Given the description of an element on the screen output the (x, y) to click on. 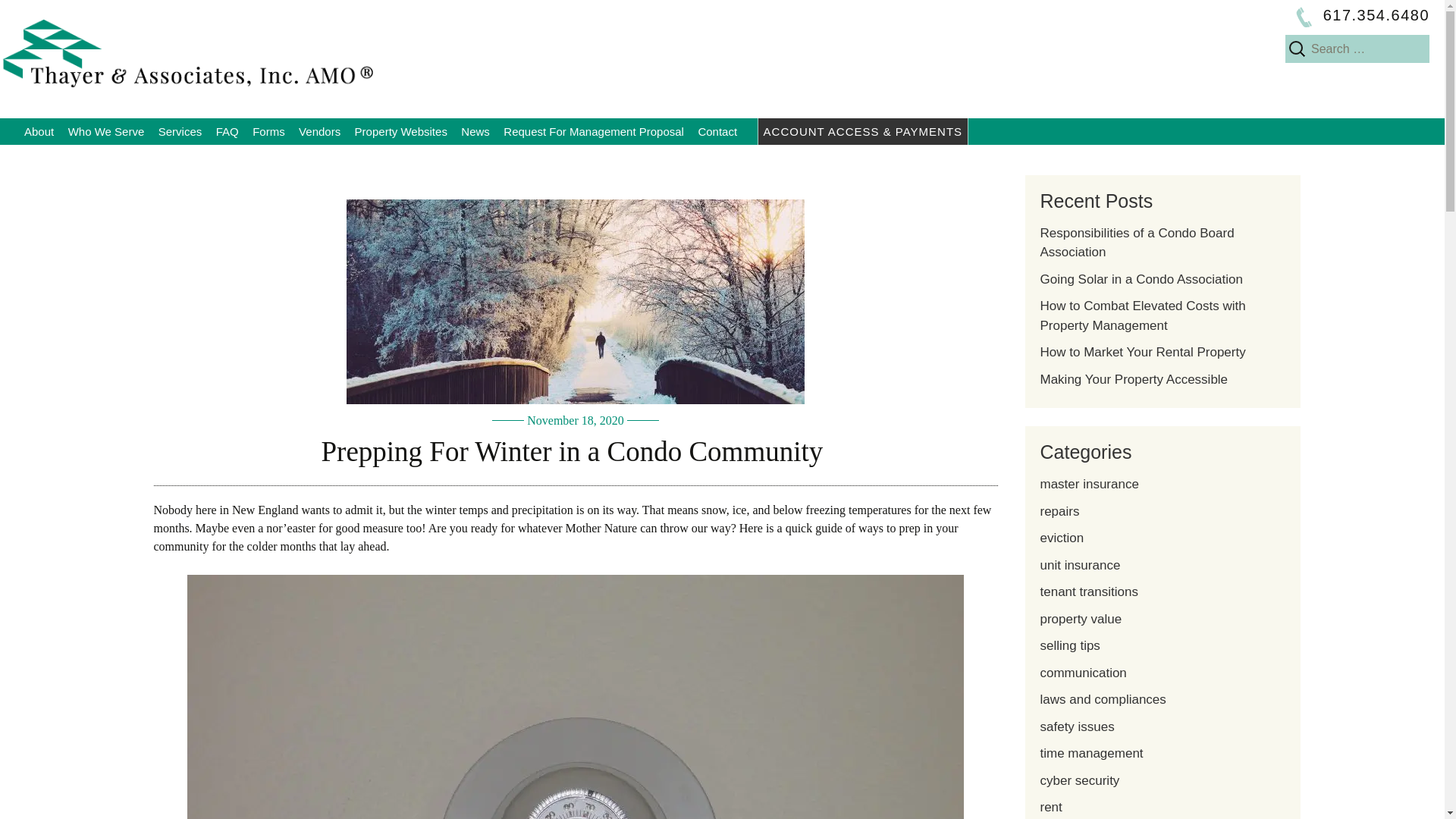
News (475, 130)
History (94, 157)
Property Websites (400, 130)
Forms (268, 130)
Blog (531, 157)
Services (180, 130)
Who We Serve (105, 130)
FAQ (227, 130)
Search (37, 15)
Property Management (228, 157)
Request For Management Proposal (592, 130)
Apartment Owners (138, 157)
Contact (717, 130)
